Given the description of an element on the screen output the (x, y) to click on. 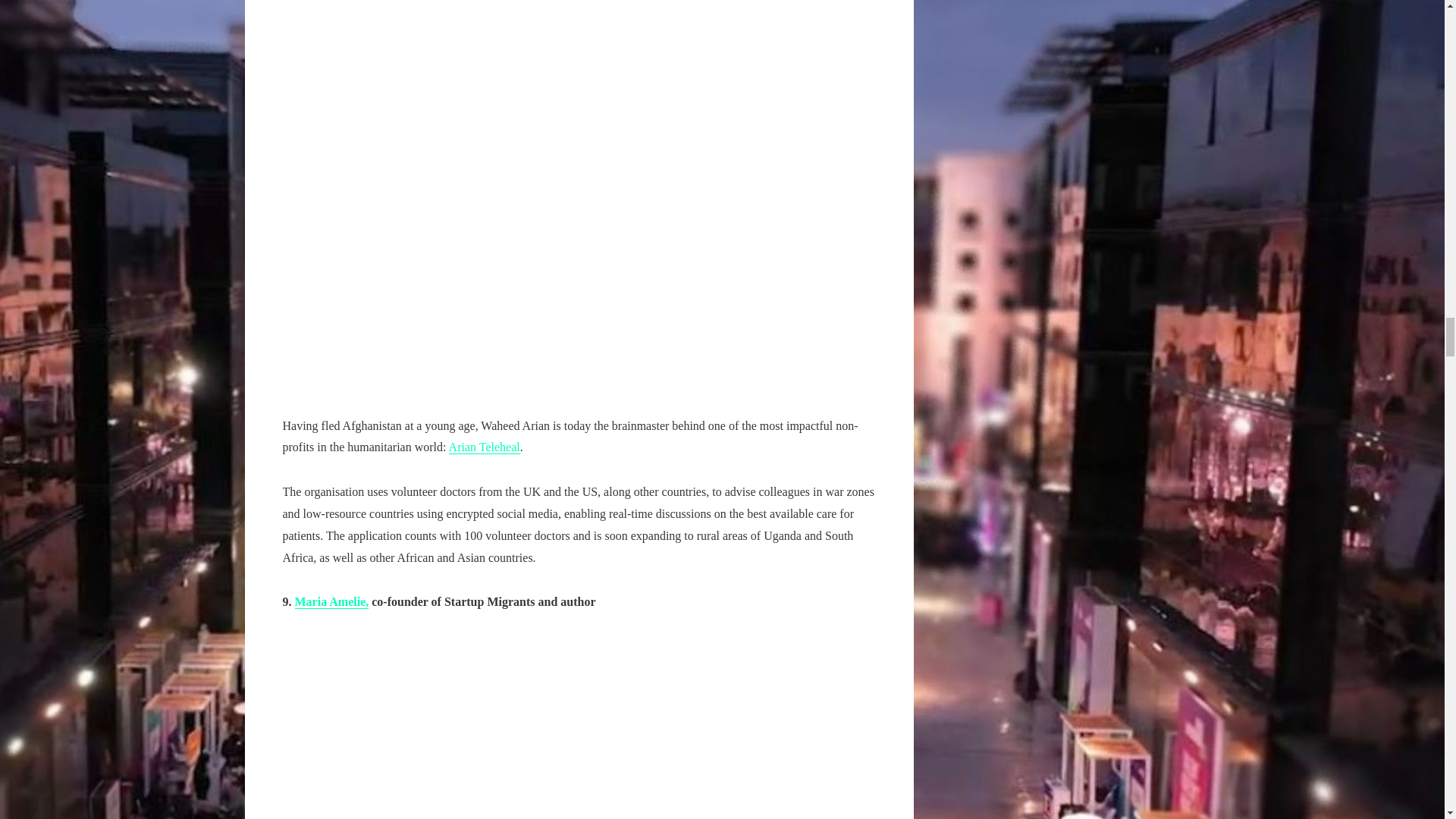
Arian Teleheal (483, 447)
